Given the description of an element on the screen output the (x, y) to click on. 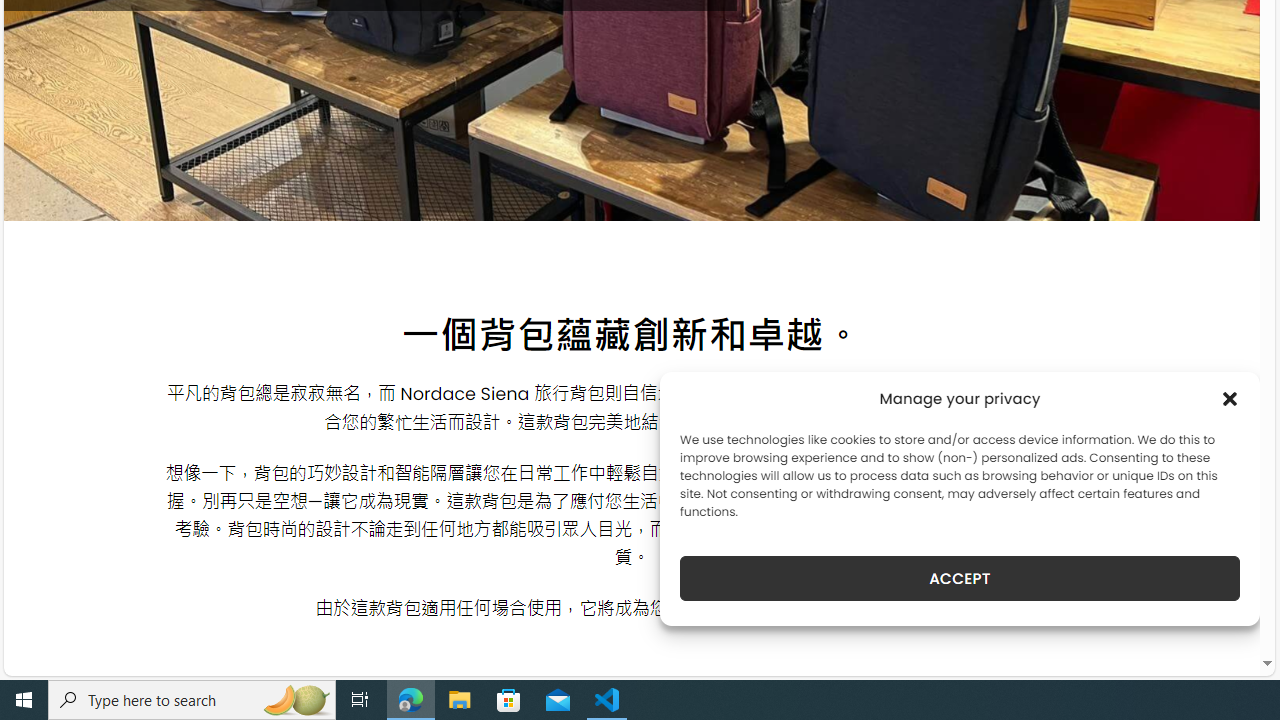
ACCEPT (959, 578)
Class: cmplz-close (1229, 398)
